Given the description of an element on the screen output the (x, y) to click on. 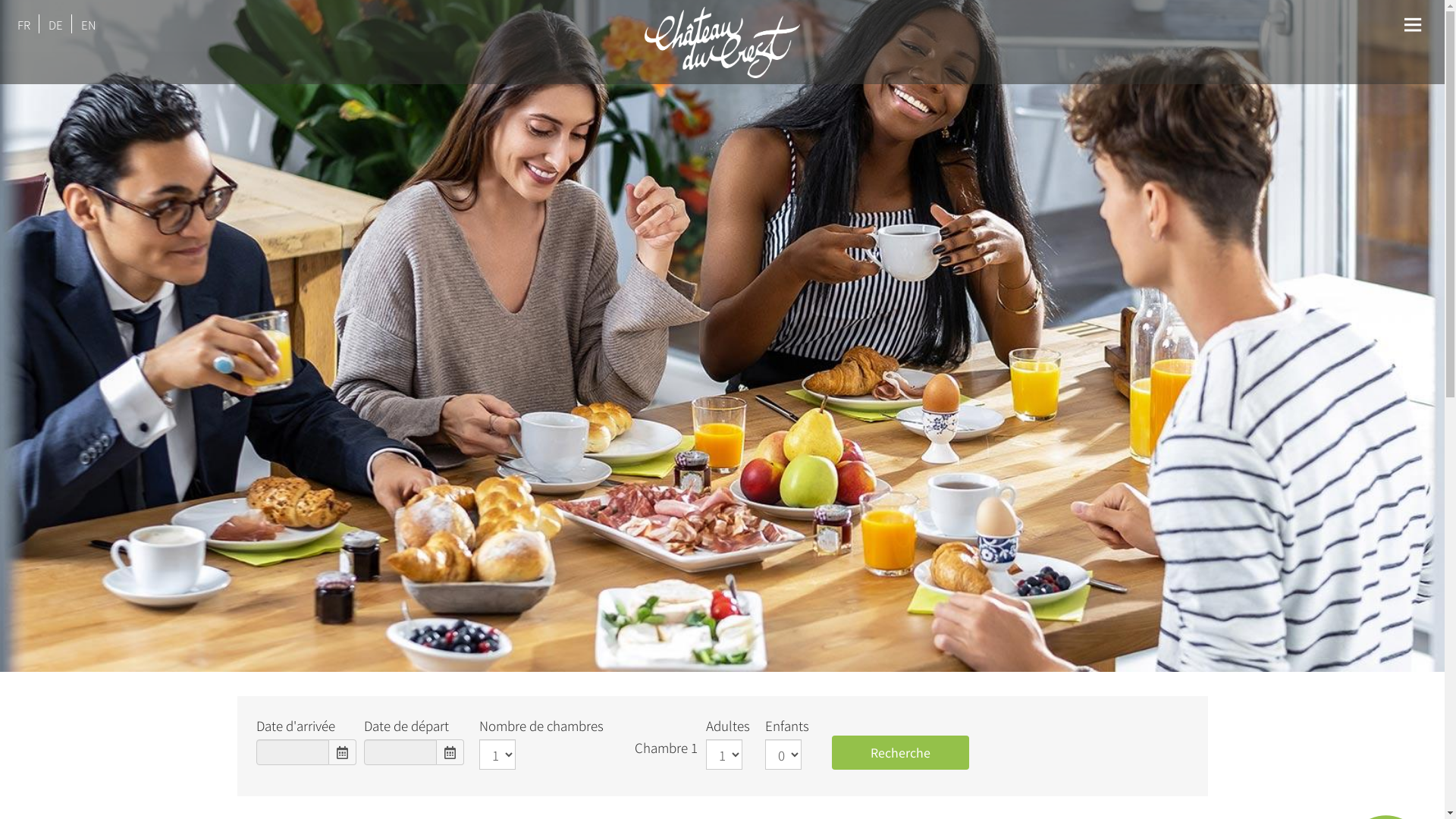
DE Element type: text (56, 24)
Recherche Element type: text (899, 752)
FR Element type: text (24, 24)
EN Element type: text (88, 24)
